Given the description of an element on the screen output the (x, y) to click on. 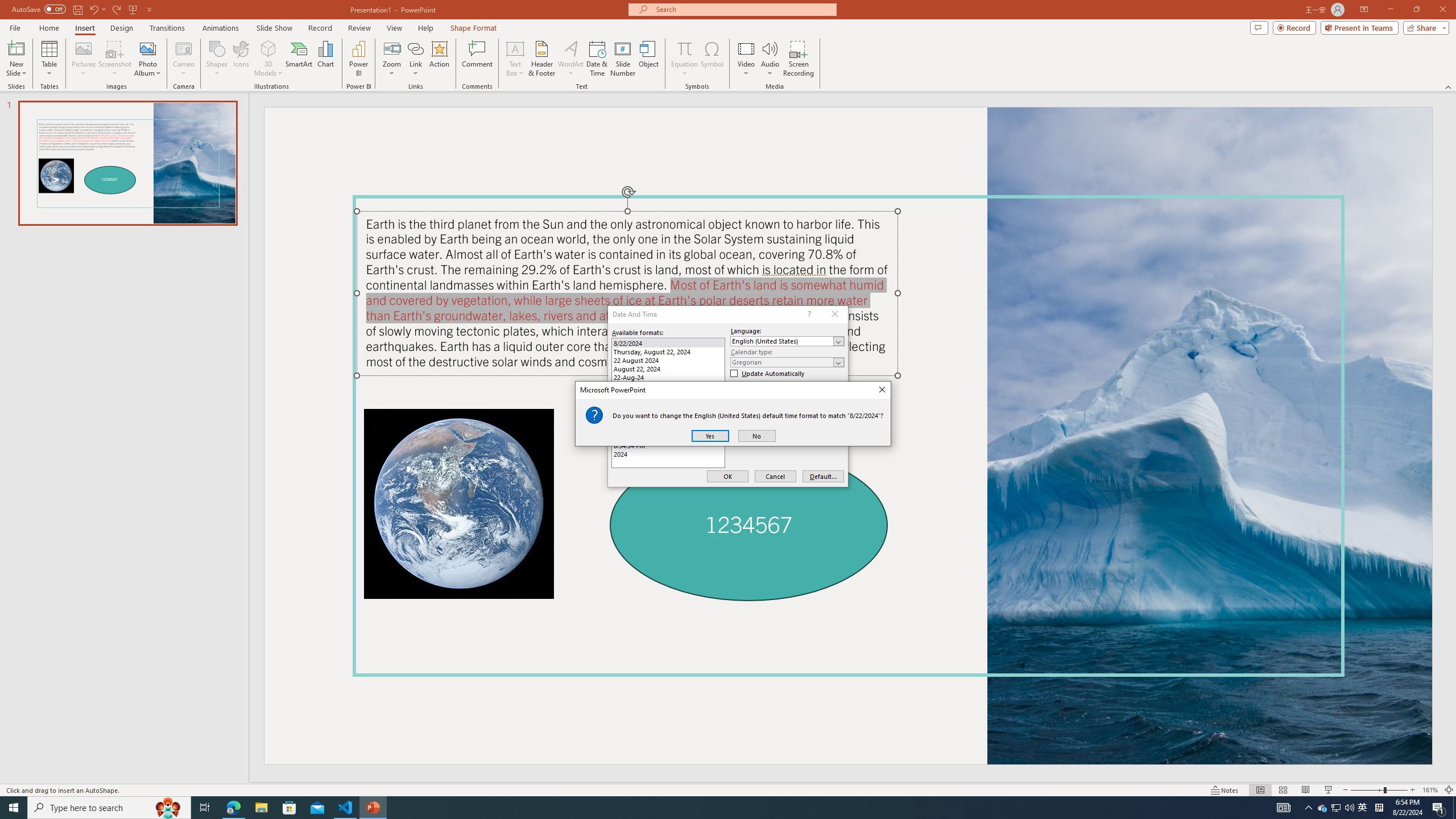
Zoom to Fit  (1449, 790)
New Slide (16, 58)
Class: Static (593, 415)
From Beginning (133, 9)
Show desktop (1362, 807)
Running applications (1454, 807)
Ribbon Display Options (700, 807)
Type here to search (1364, 9)
Comments (108, 807)
Home (1259, 27)
Chart... (48, 28)
Present in Teams (325, 58)
